Given the description of an element on the screen output the (x, y) to click on. 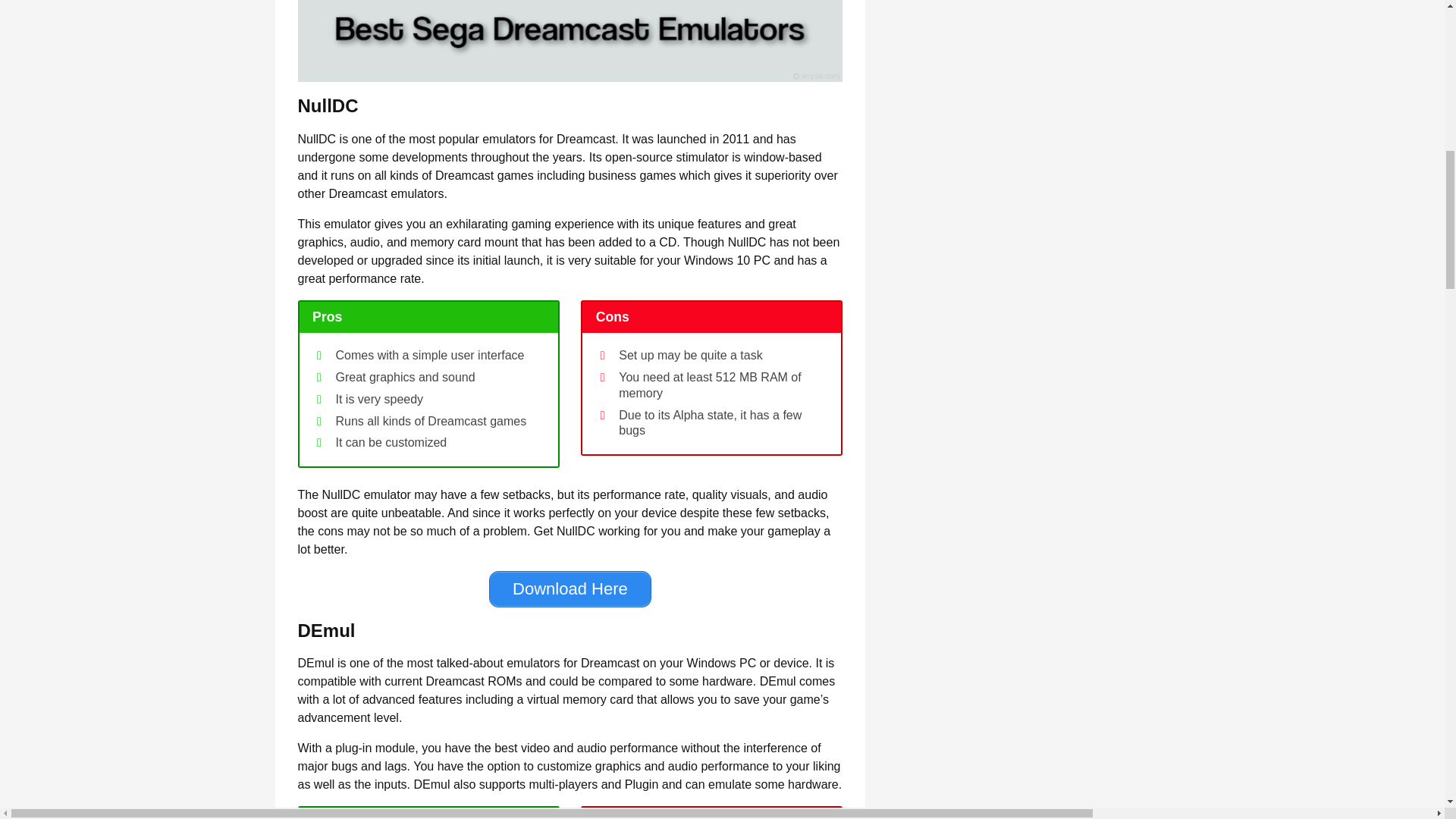
Download Here (569, 588)
